Given the description of an element on the screen output the (x, y) to click on. 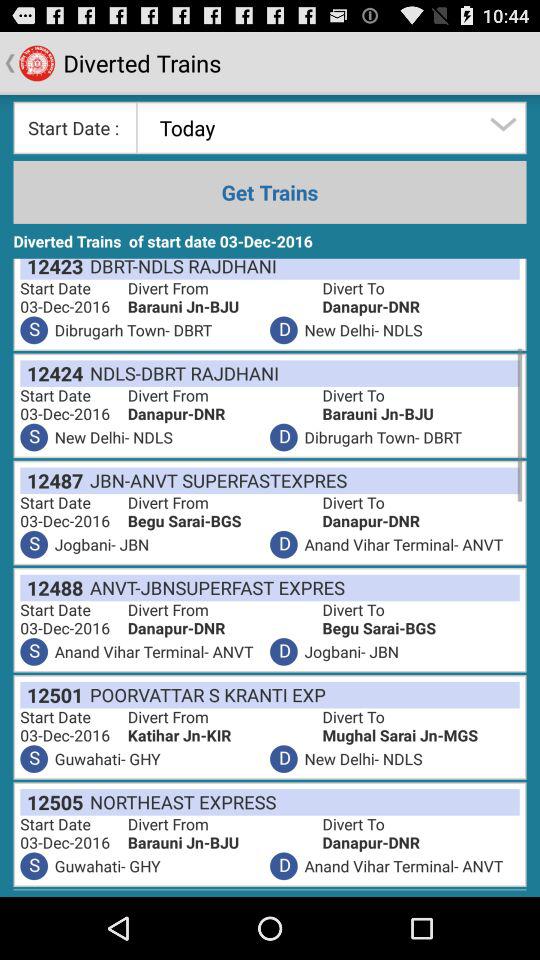
turn off the icon to the left of the jbn-anvt superfastexpres (51, 480)
